Given the description of an element on the screen output the (x, y) to click on. 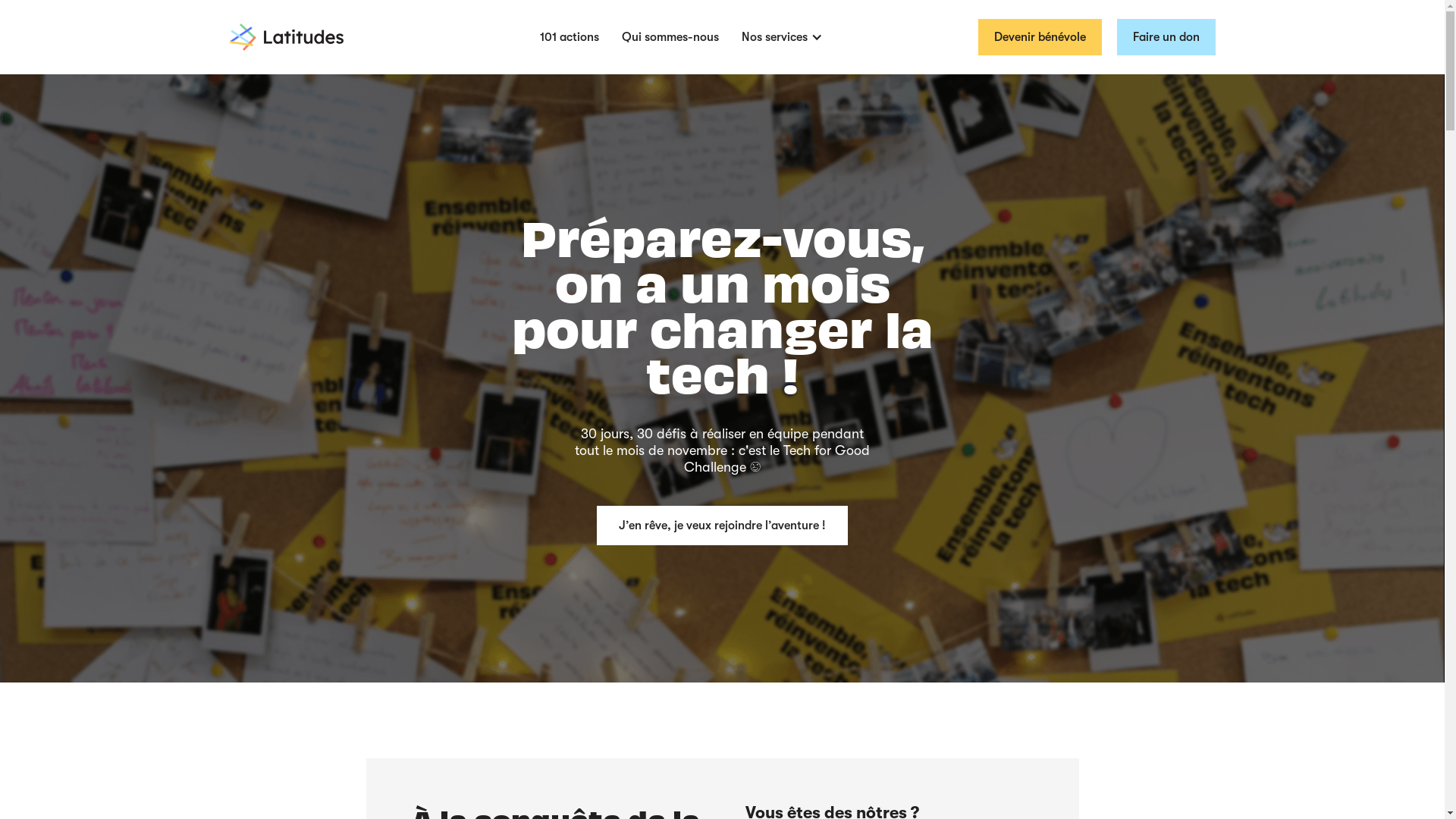
Faire un don Element type: text (1165, 36)
Qui sommes-nous Element type: text (669, 37)
101 actions Element type: text (569, 37)
